Given the description of an element on the screen output the (x, y) to click on. 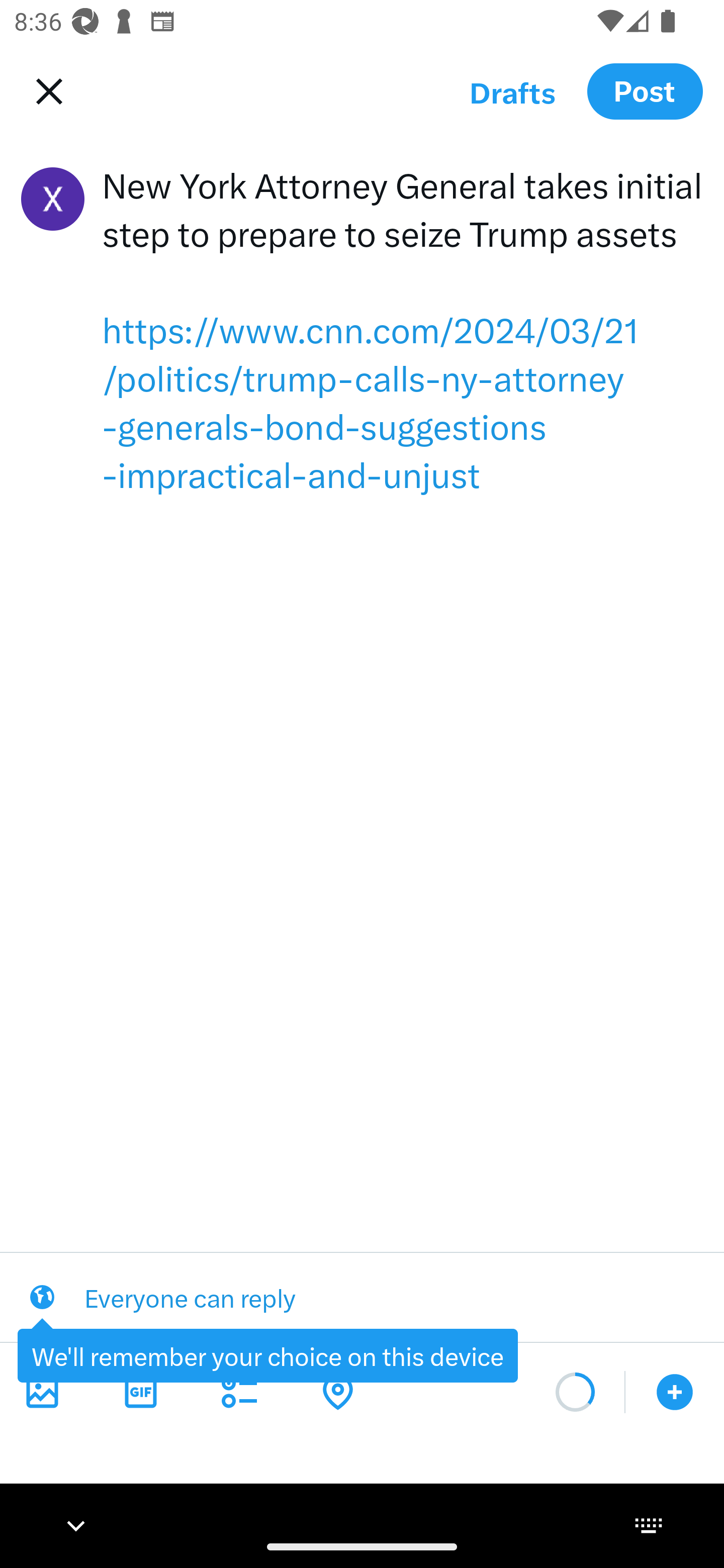
Navigate up (45, 91)
POST (645, 90)
Drafts Open Drafts (512, 91)
@testappium20, Switch accounts (52, 198)
We'll remember your choice on this device (267, 1355)
Add a post (674, 1392)
